Given the description of an element on the screen output the (x, y) to click on. 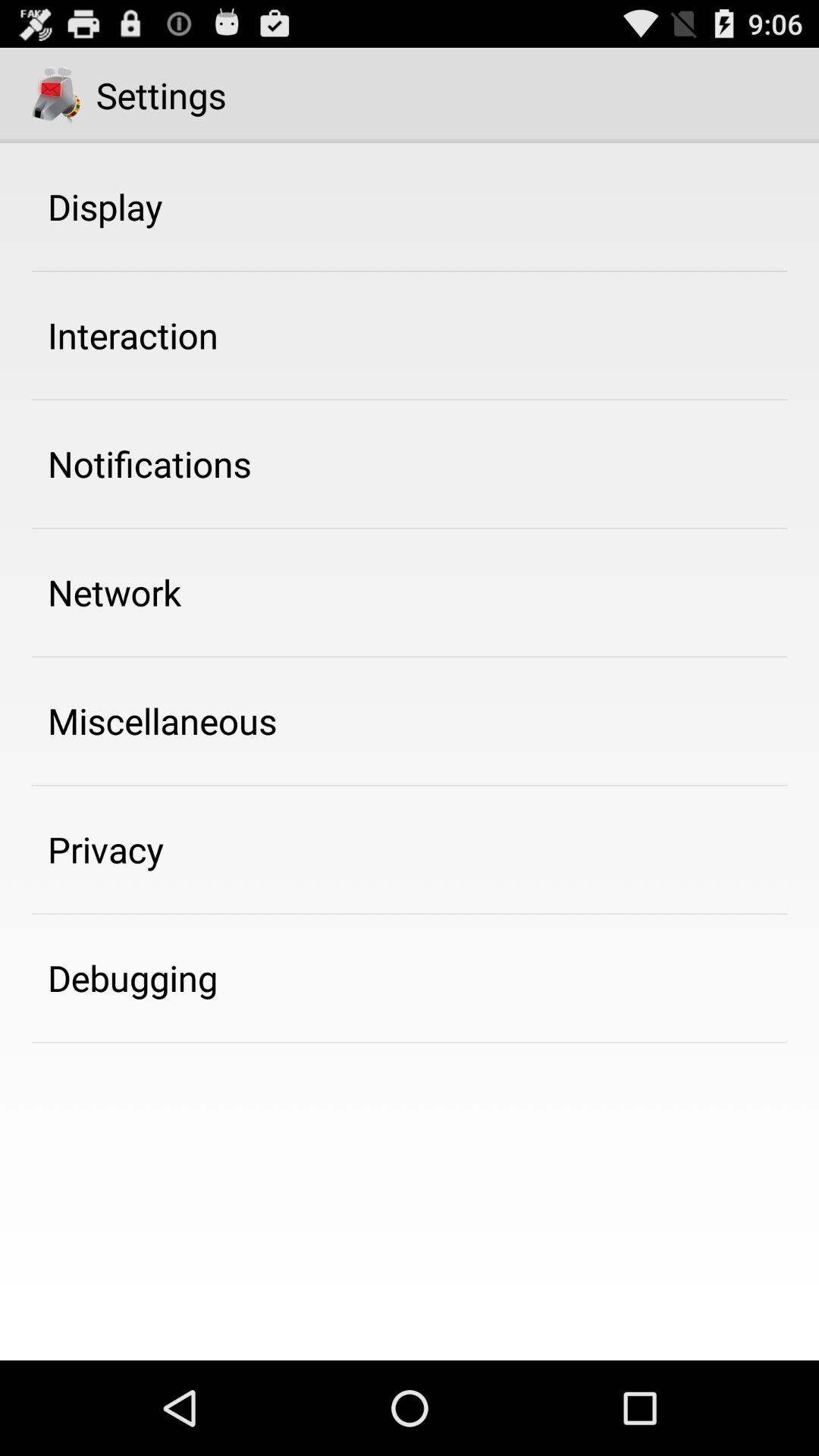
flip to the debugging app (132, 977)
